Given the description of an element on the screen output the (x, y) to click on. 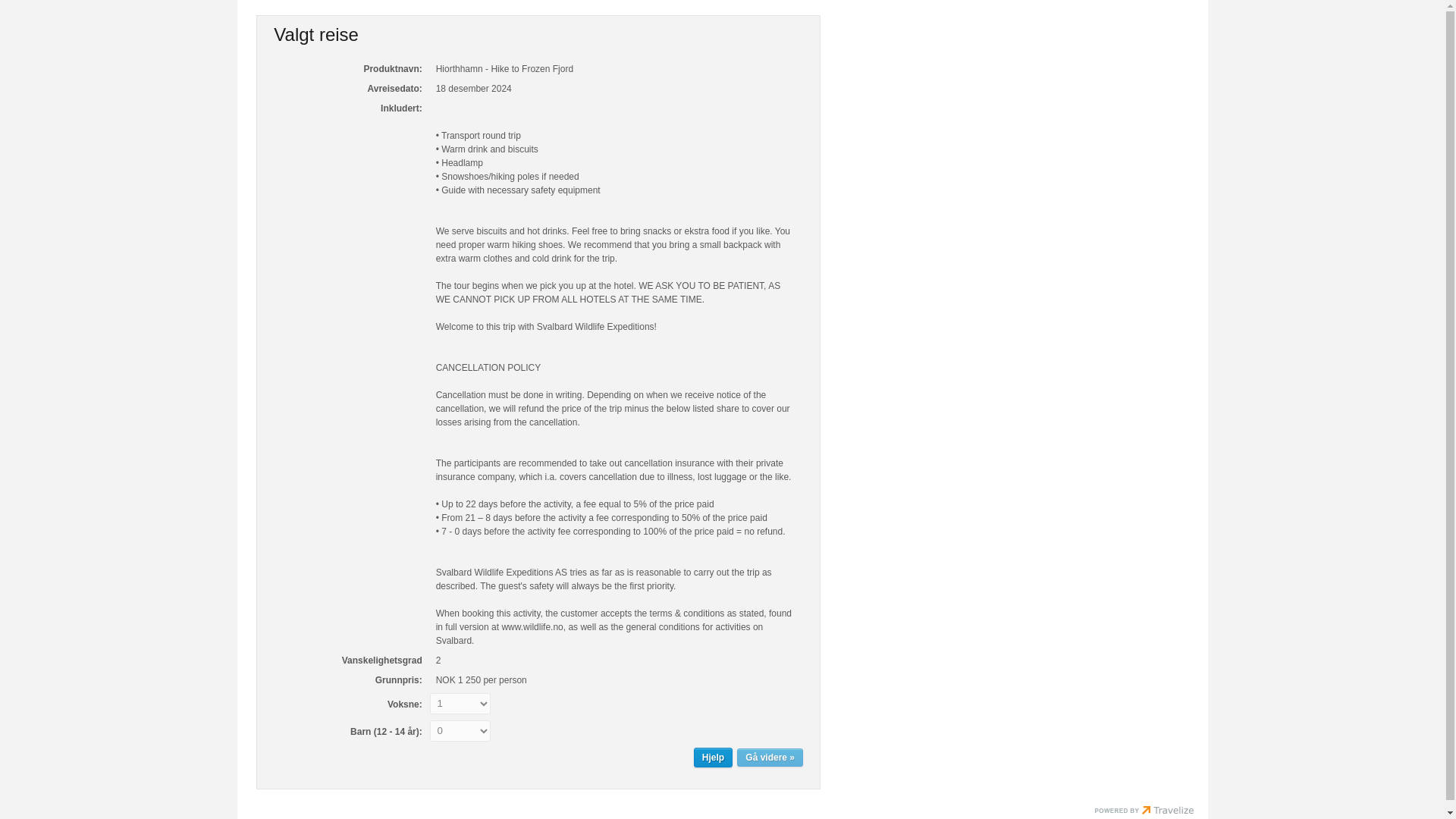
Hjelp (713, 757)
Hjelp (713, 757)
